Given the description of an element on the screen output the (x, y) to click on. 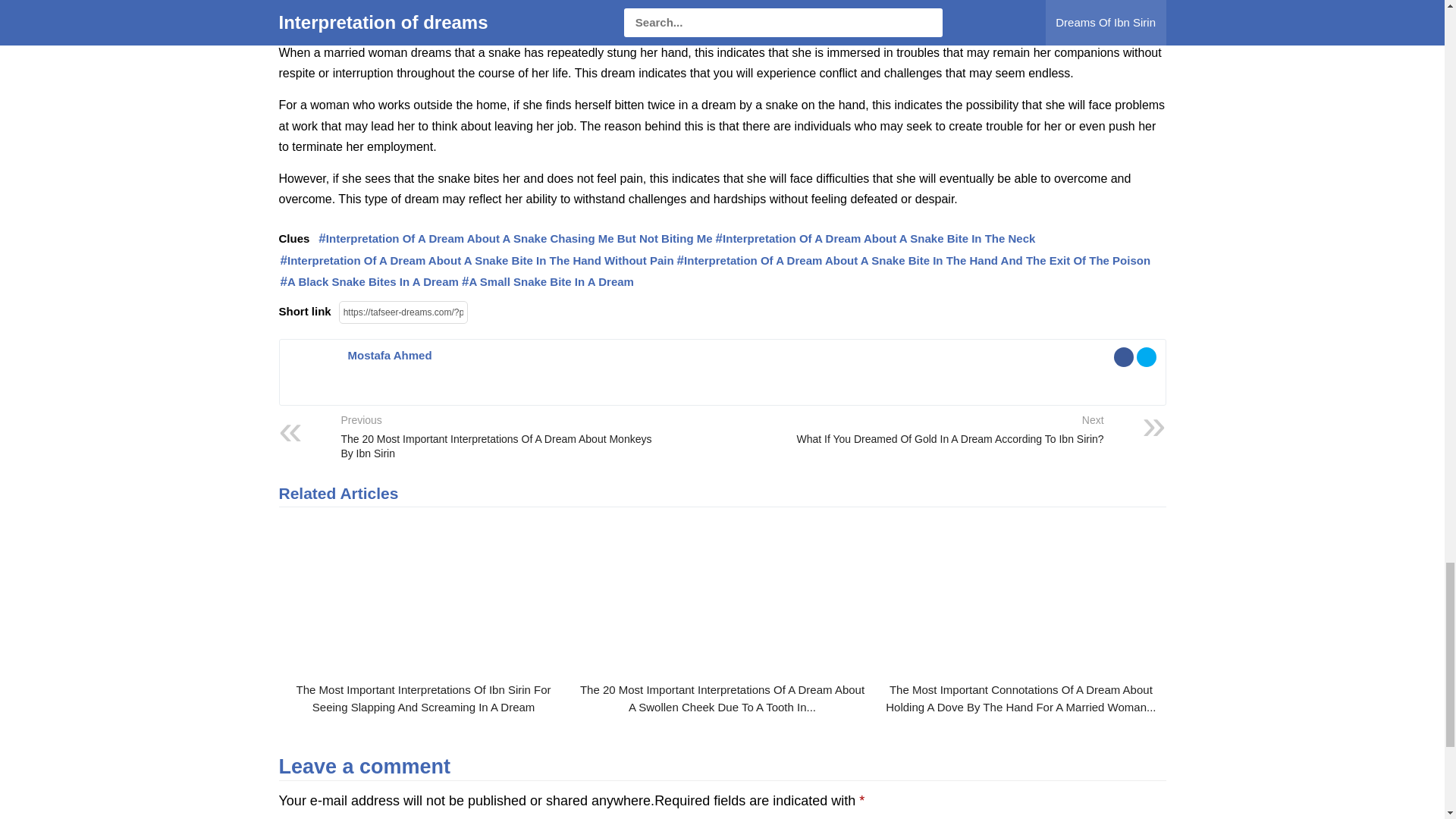
Mostafa Ahmed (388, 354)
Interpretation Of A Dream About A Snake Bite In The Neck (875, 239)
View all articles by: Mostafa Ahmed (388, 354)
Mostafa Ahmed (308, 387)
A Black Snake Bites In A Dream (369, 282)
